Given the description of an element on the screen output the (x, y) to click on. 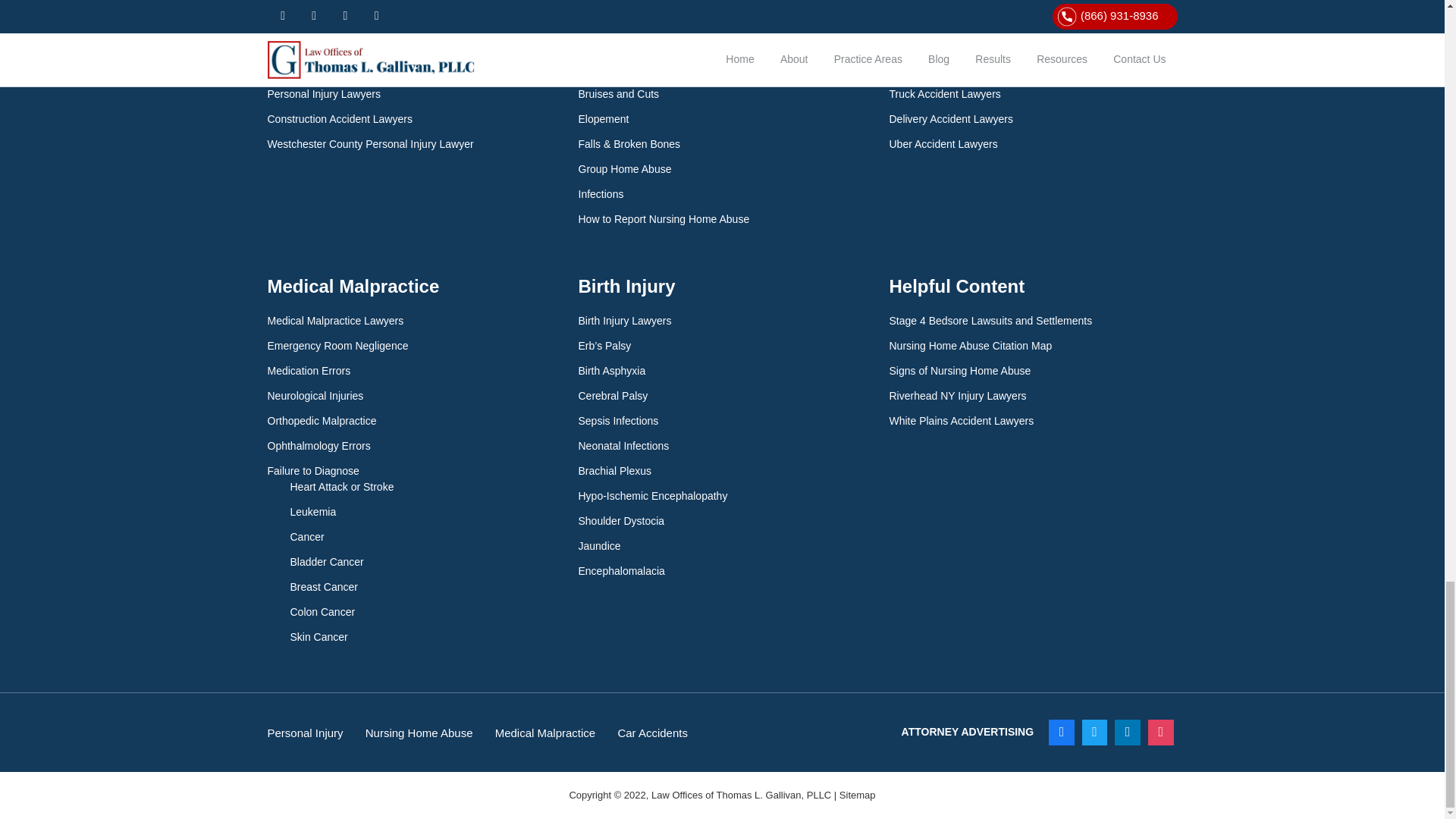
Facebook alt (1061, 732)
Twitter (1095, 732)
Instagram (1160, 732)
Linkedin (1127, 732)
